Given the description of an element on the screen output the (x, y) to click on. 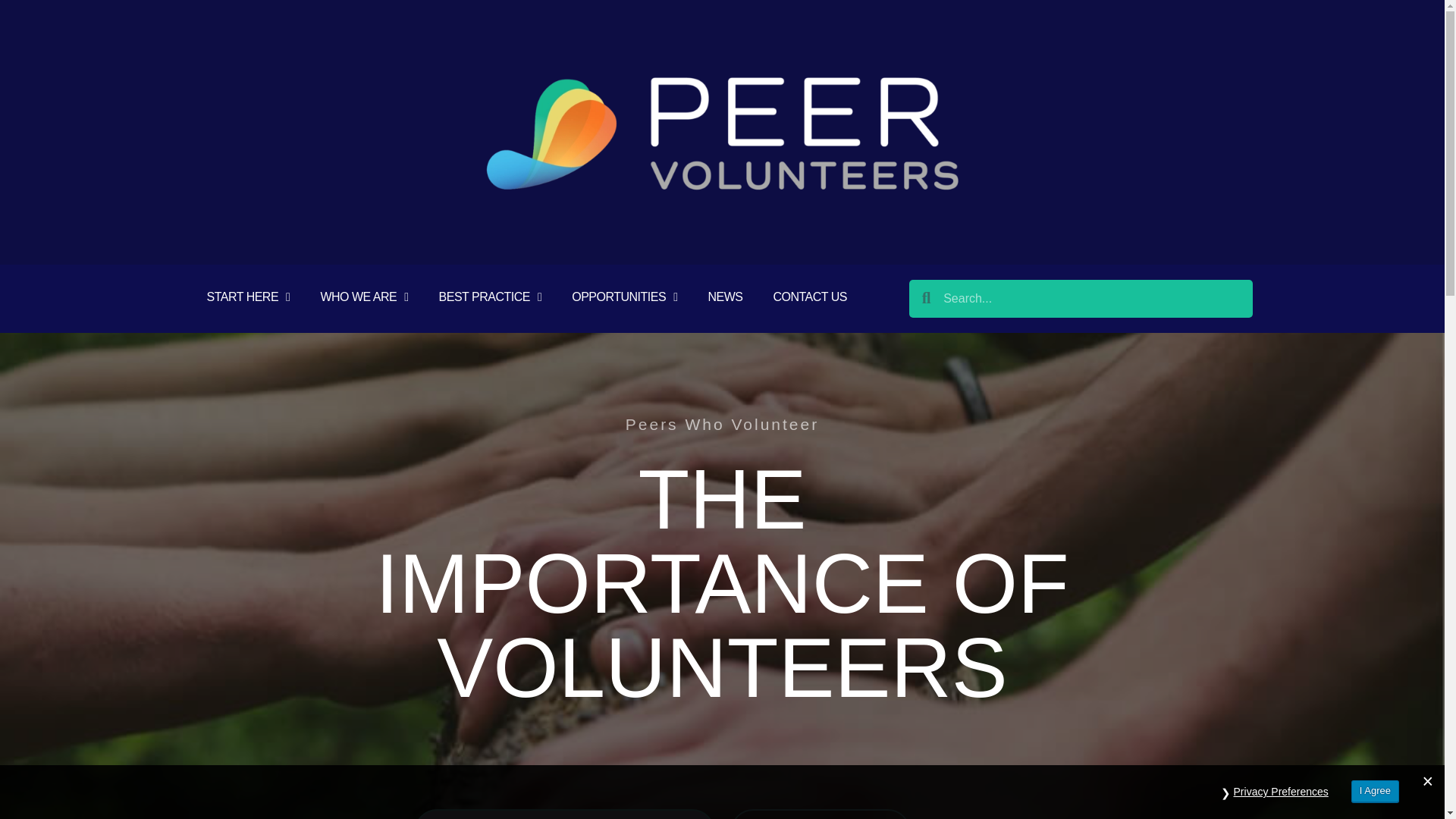
CONTACT US (809, 297)
WHO WE ARE (363, 297)
BEST PRACTICE (490, 297)
NEWS (725, 297)
START HERE (247, 297)
OPPORTUNITIES (624, 297)
